Given the description of an element on the screen output the (x, y) to click on. 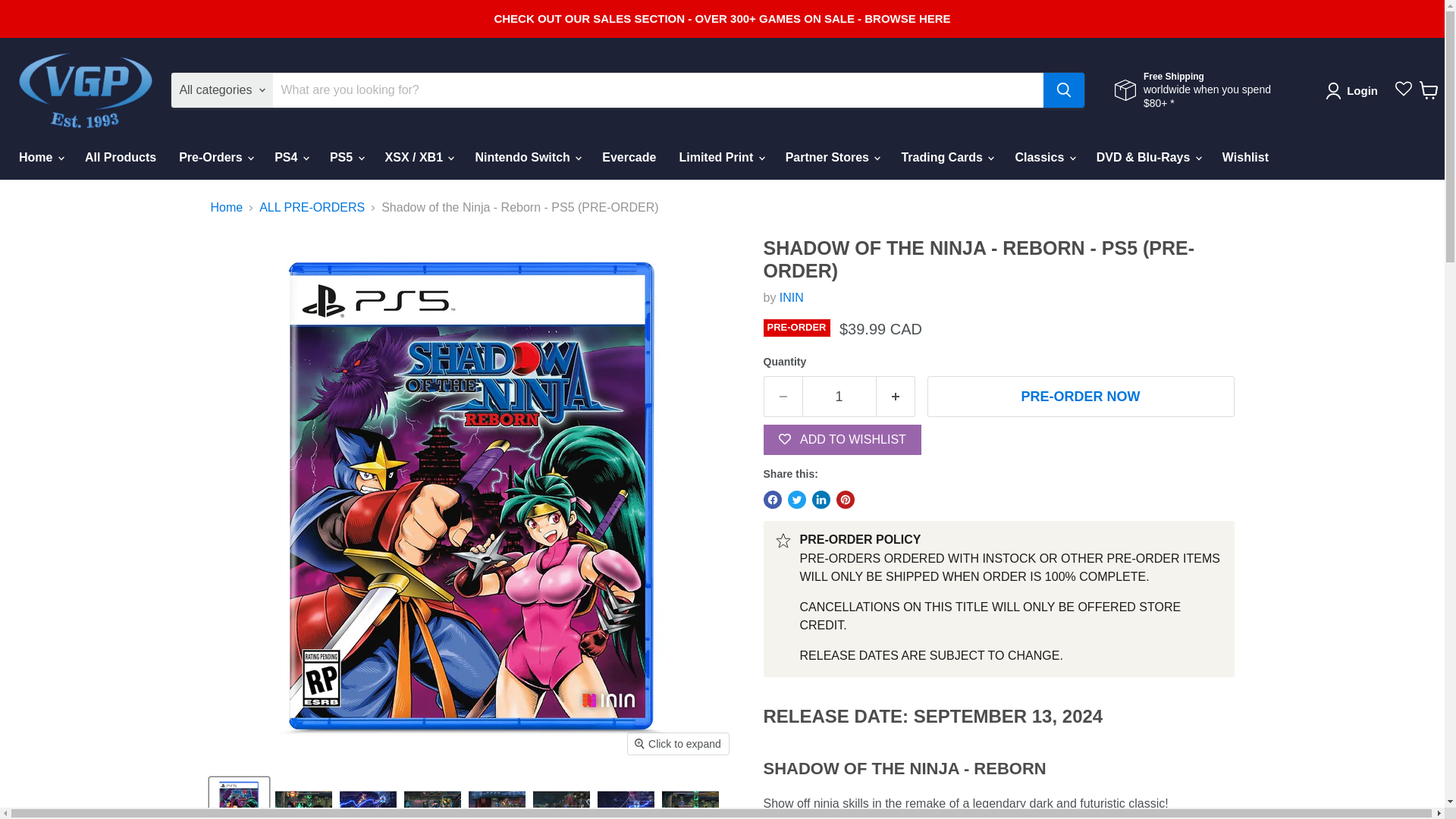
1 (839, 396)
ININ (790, 297)
Evercade (628, 157)
Login (1354, 90)
All Products (120, 157)
